Given the description of an element on the screen output the (x, y) to click on. 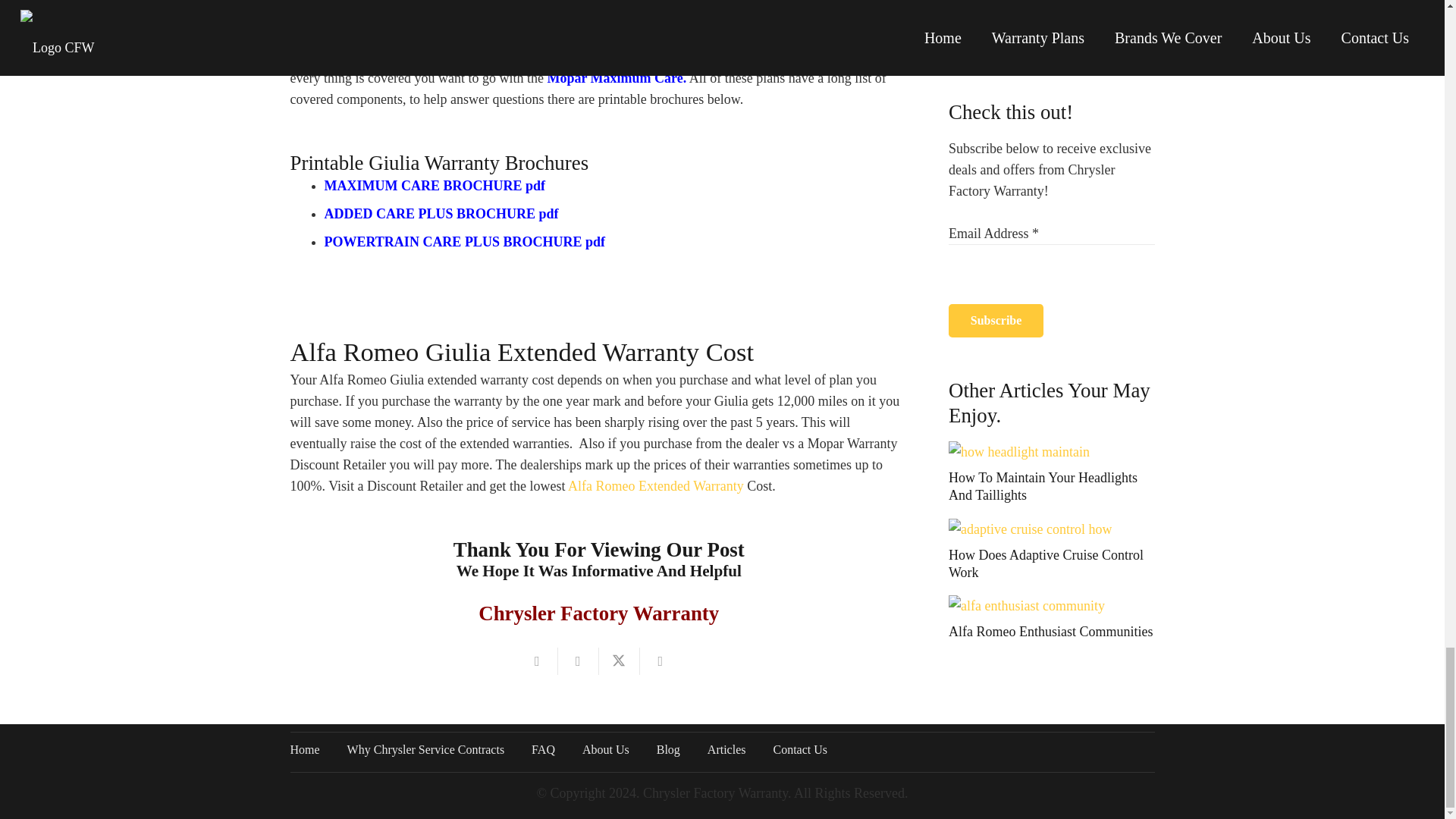
ADDED CARE PLUS BROCHURE pdf (441, 213)
Email this (536, 660)
POWERTRAIN CARE PLUS BROCHURE pdf (464, 241)
Tweet this (619, 660)
Mopar Maximum Care (614, 77)
Share this (577, 660)
Alfa Romeo Extended Warranty (655, 485)
MAXIMUM CARE BROCHURE pdf (435, 185)
Share this (660, 660)
Mopar Added Care Plus (562, 56)
Mopar Powertrain Plus (668, 14)
